Given the description of an element on the screen output the (x, y) to click on. 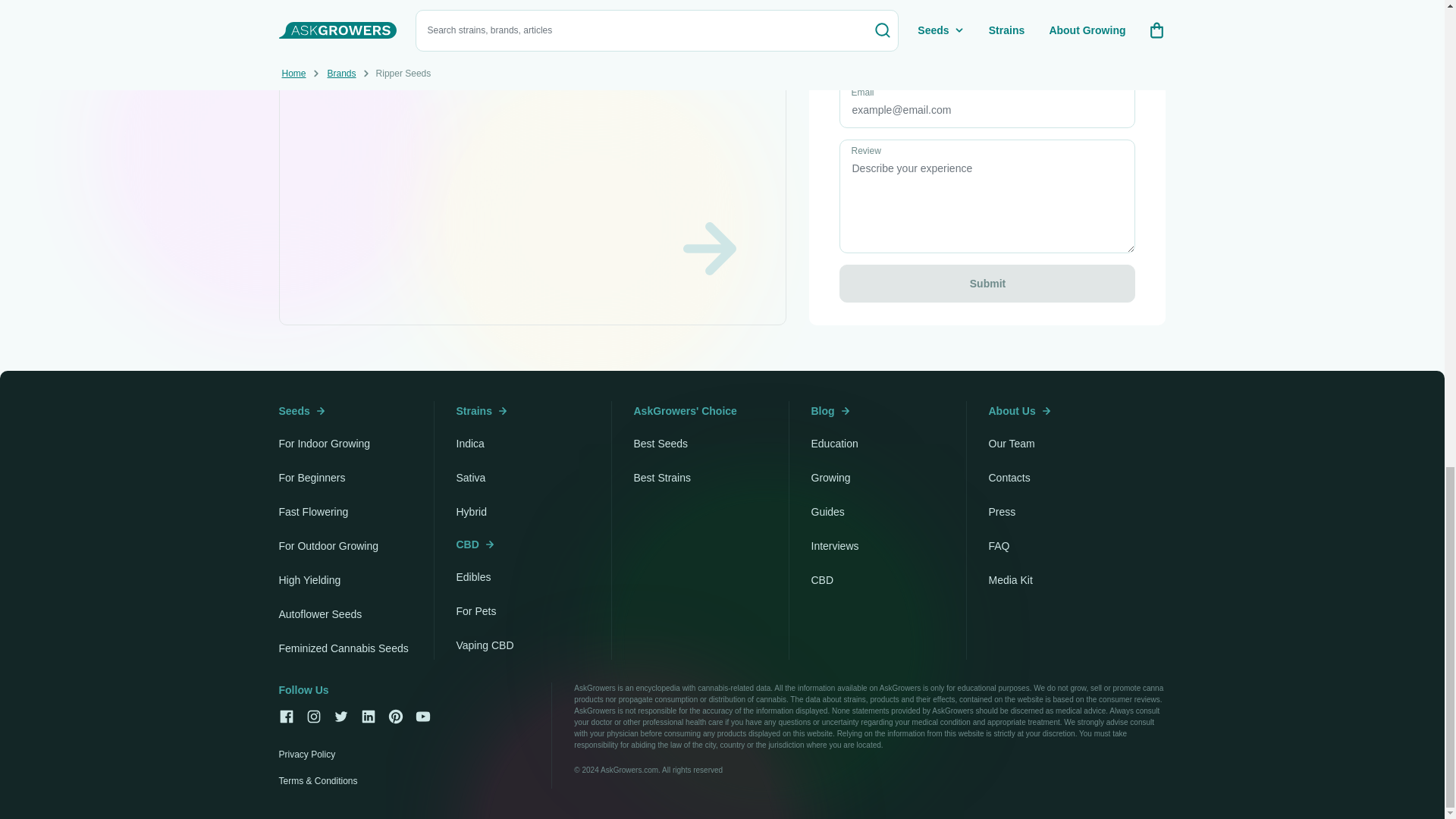
Seeds (301, 410)
Fast Flowering (314, 511)
Autoflower Seeds (320, 613)
High Yielding (309, 580)
Submit (987, 283)
For Beginners (312, 477)
For Indoor Growing (325, 443)
For Outdoor Growing (328, 545)
